Given the description of an element on the screen output the (x, y) to click on. 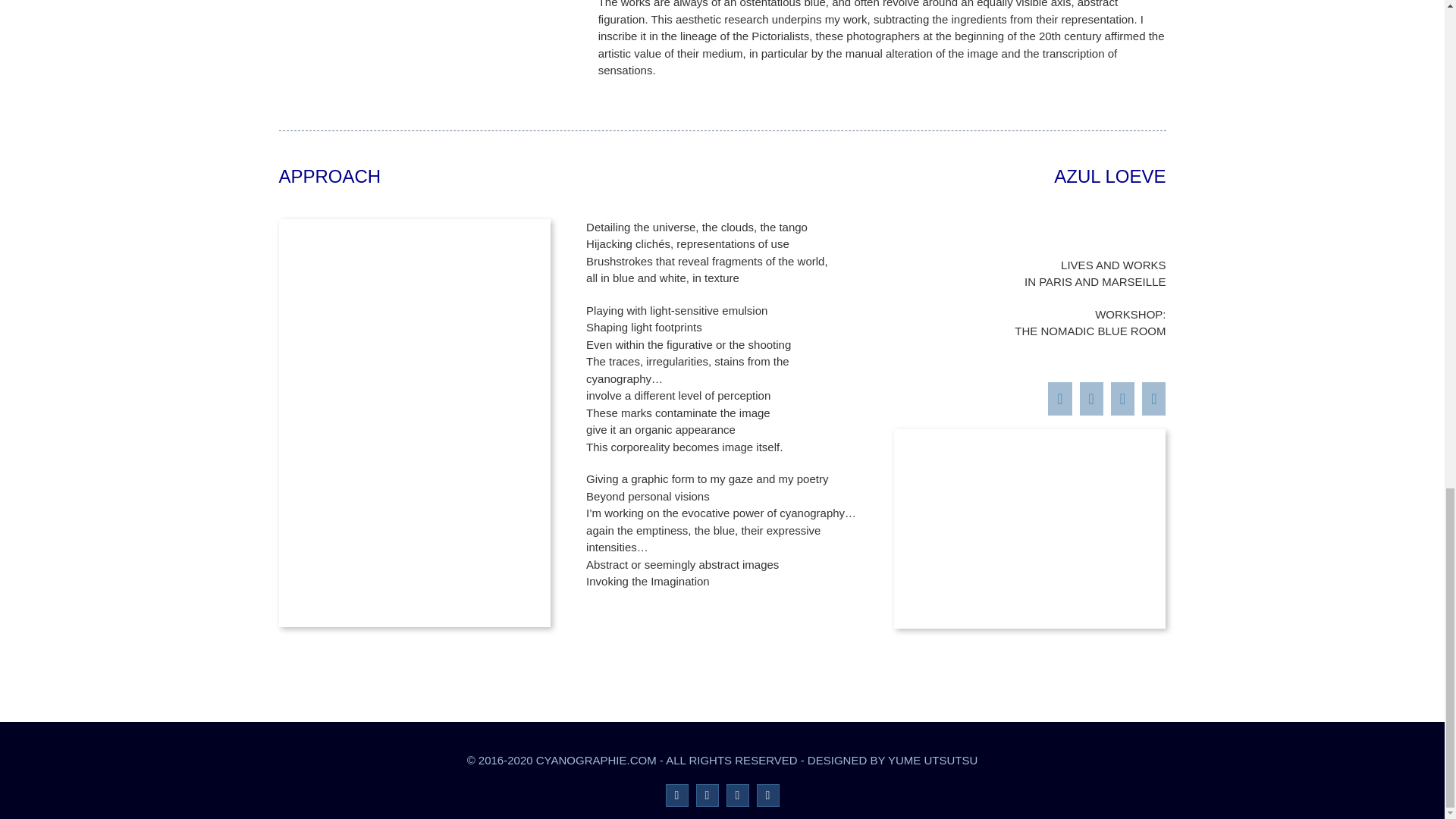
LinkedIn (707, 794)
Instagram (767, 794)
Facebook (676, 794)
Email (722, 165)
